Given the description of an element on the screen output the (x, y) to click on. 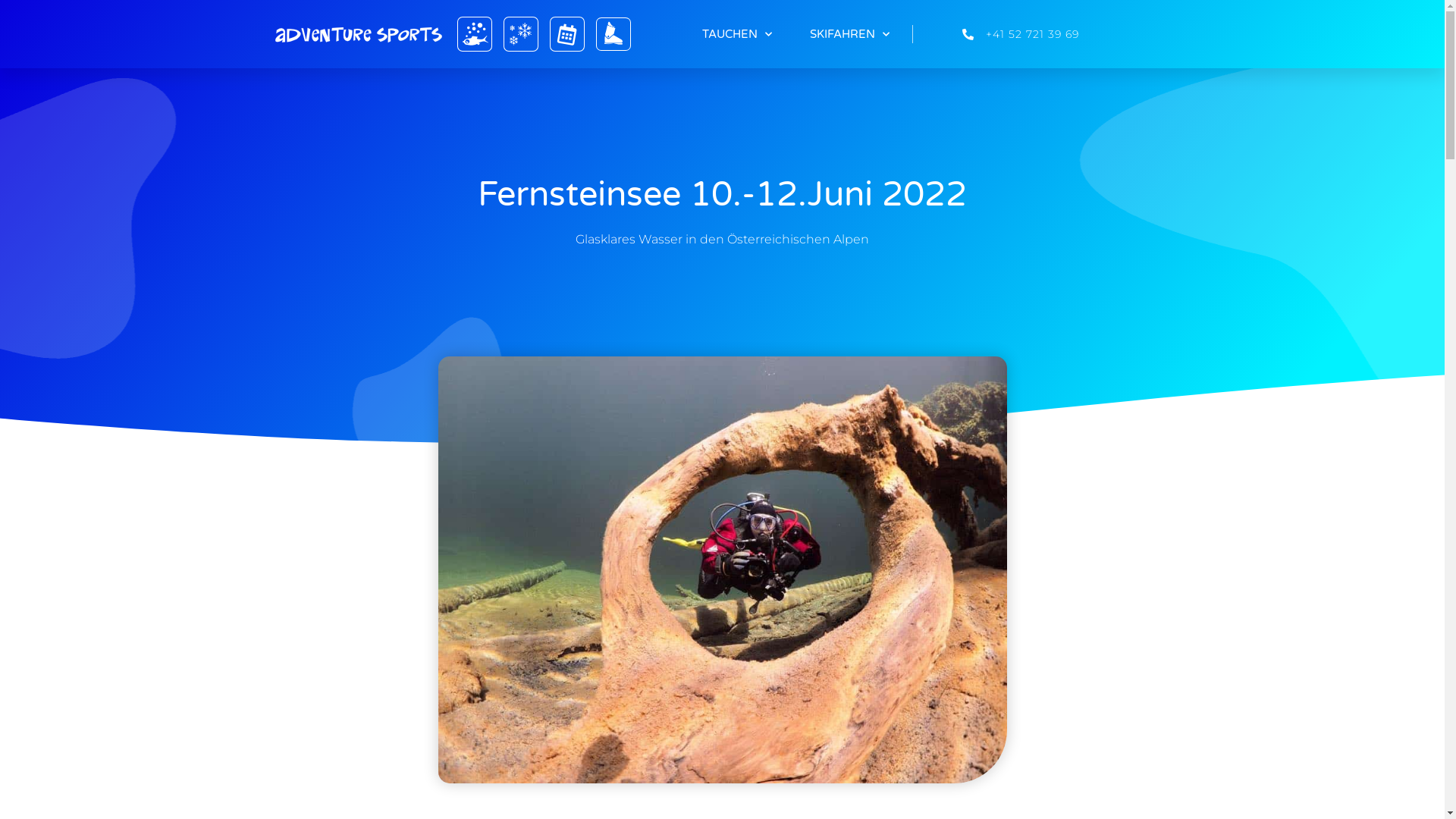
TAUCHEN Element type: text (736, 34)
+41 52 721 39 69 Element type: text (996, 34)
SKIFAHREN Element type: text (849, 34)
